Given the description of an element on the screen output the (x, y) to click on. 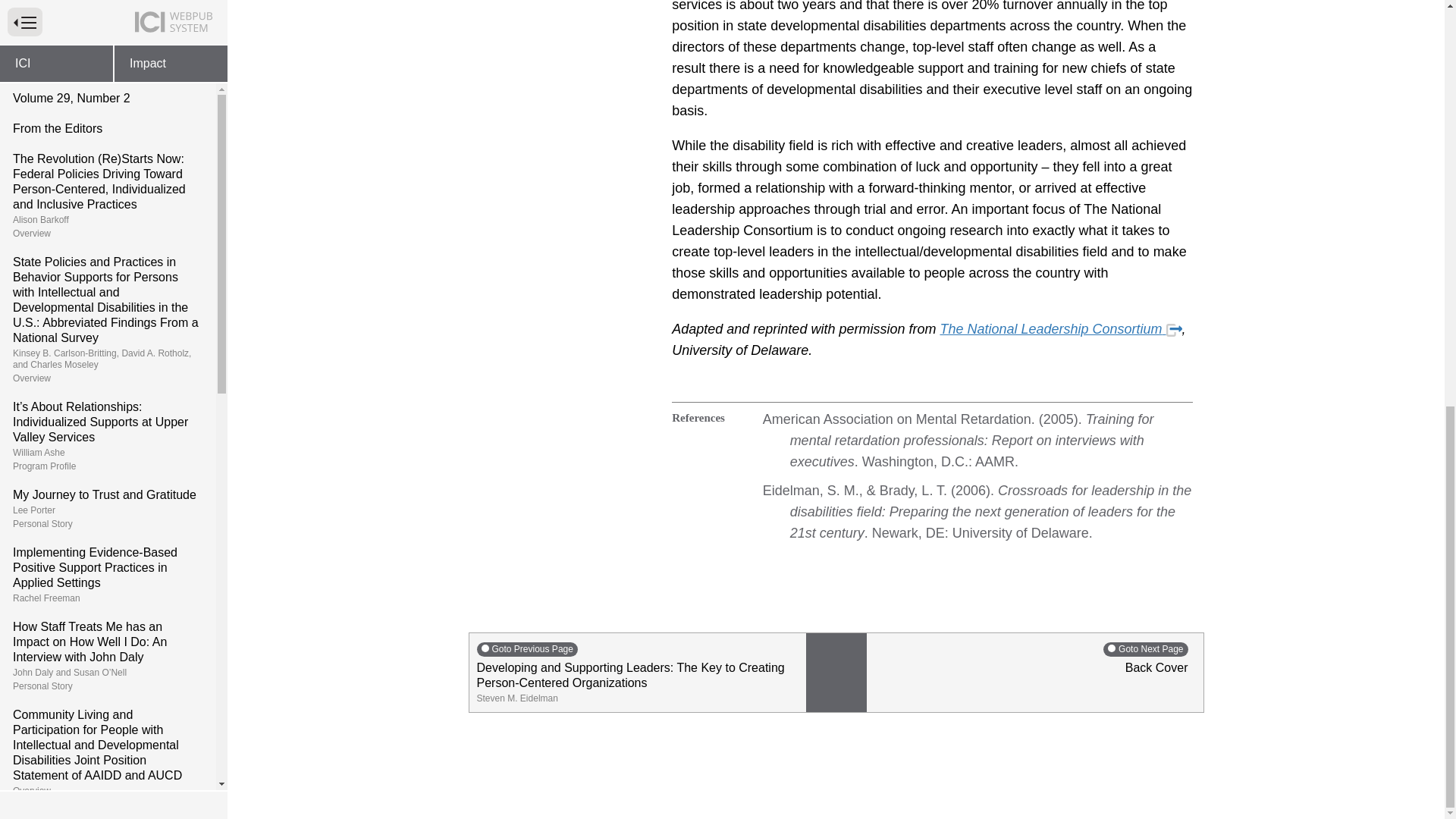
Goto Next Page Back Cover (1034, 672)
Opens an external site or resource (107, 139)
The National Leadership Consortium (1174, 329)
